Given the description of an element on the screen output the (x, y) to click on. 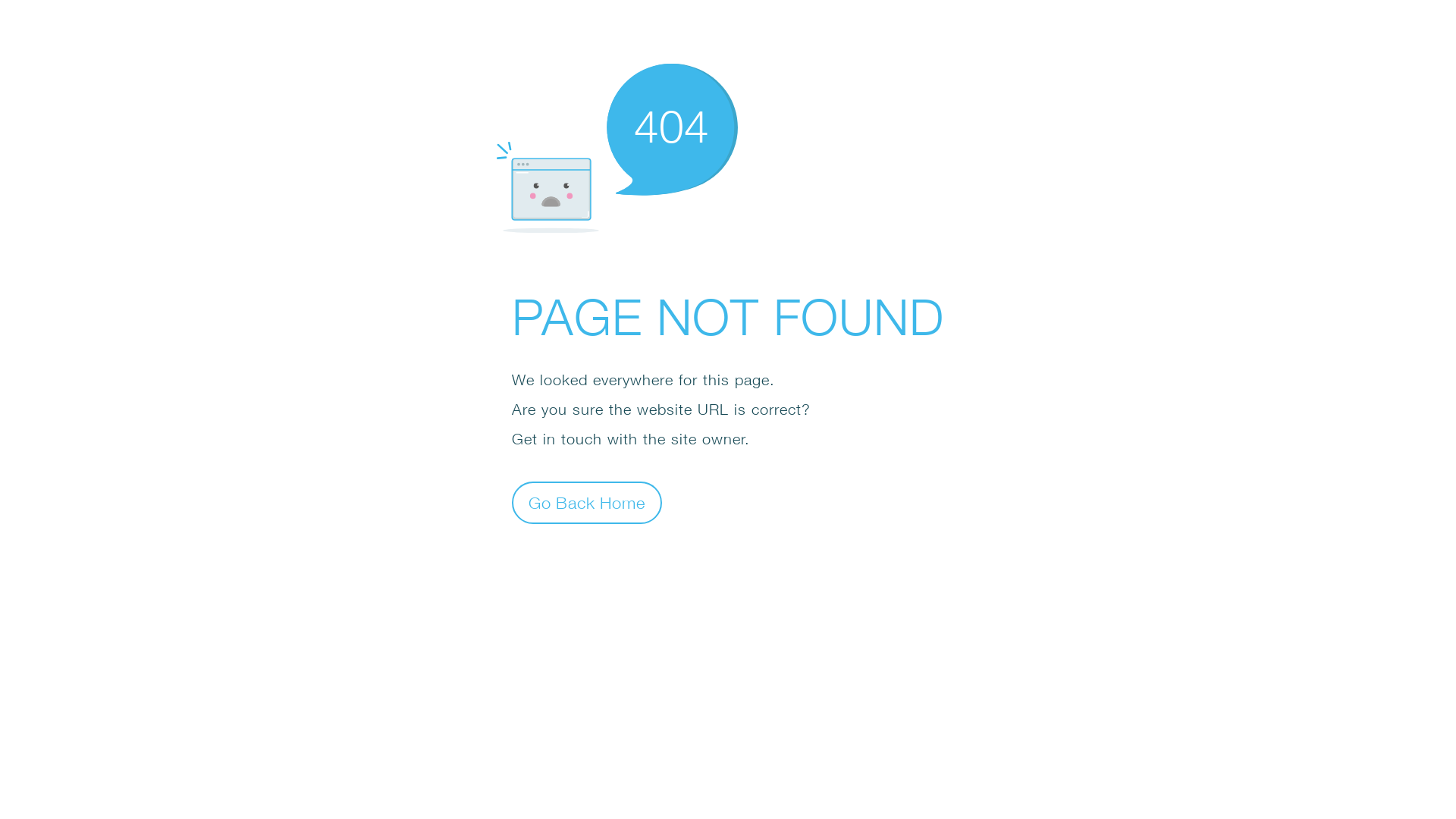
Go Back Home Element type: text (586, 502)
